Given the description of an element on the screen output the (x, y) to click on. 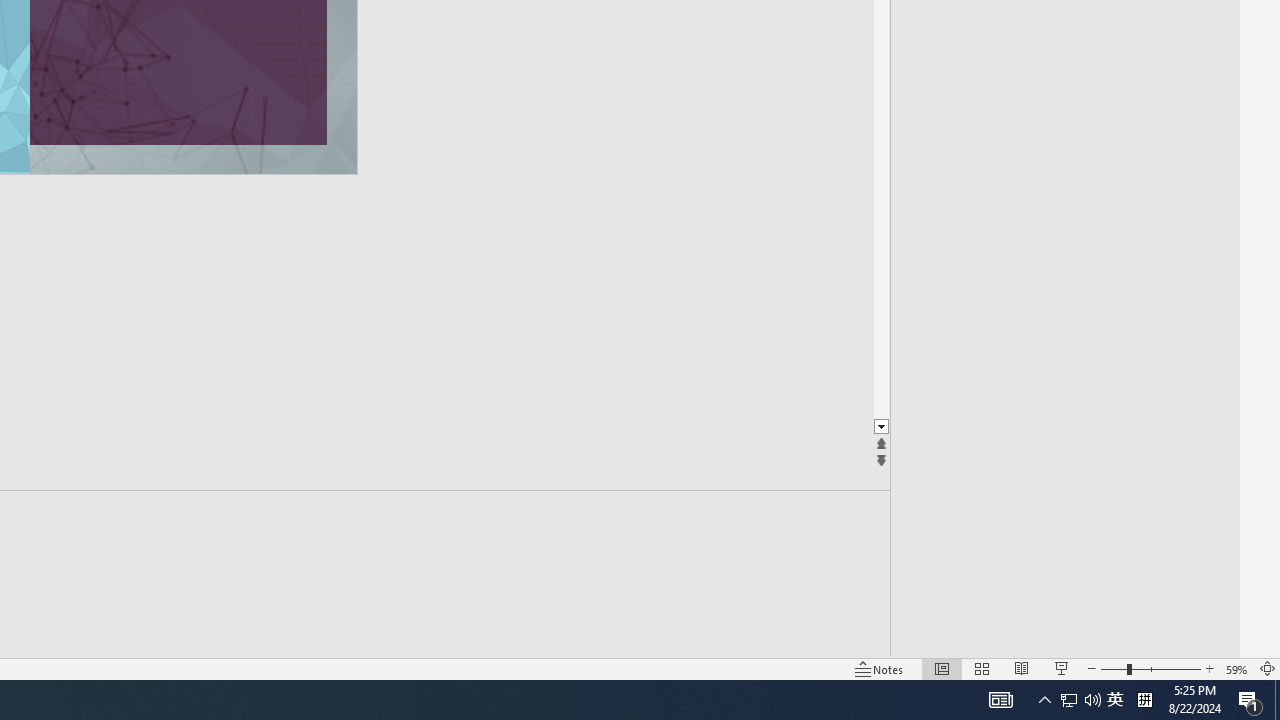
copilot-notconnected, Copilot error (click for details) (481, 628)
